Given the description of an element on the screen output the (x, y) to click on. 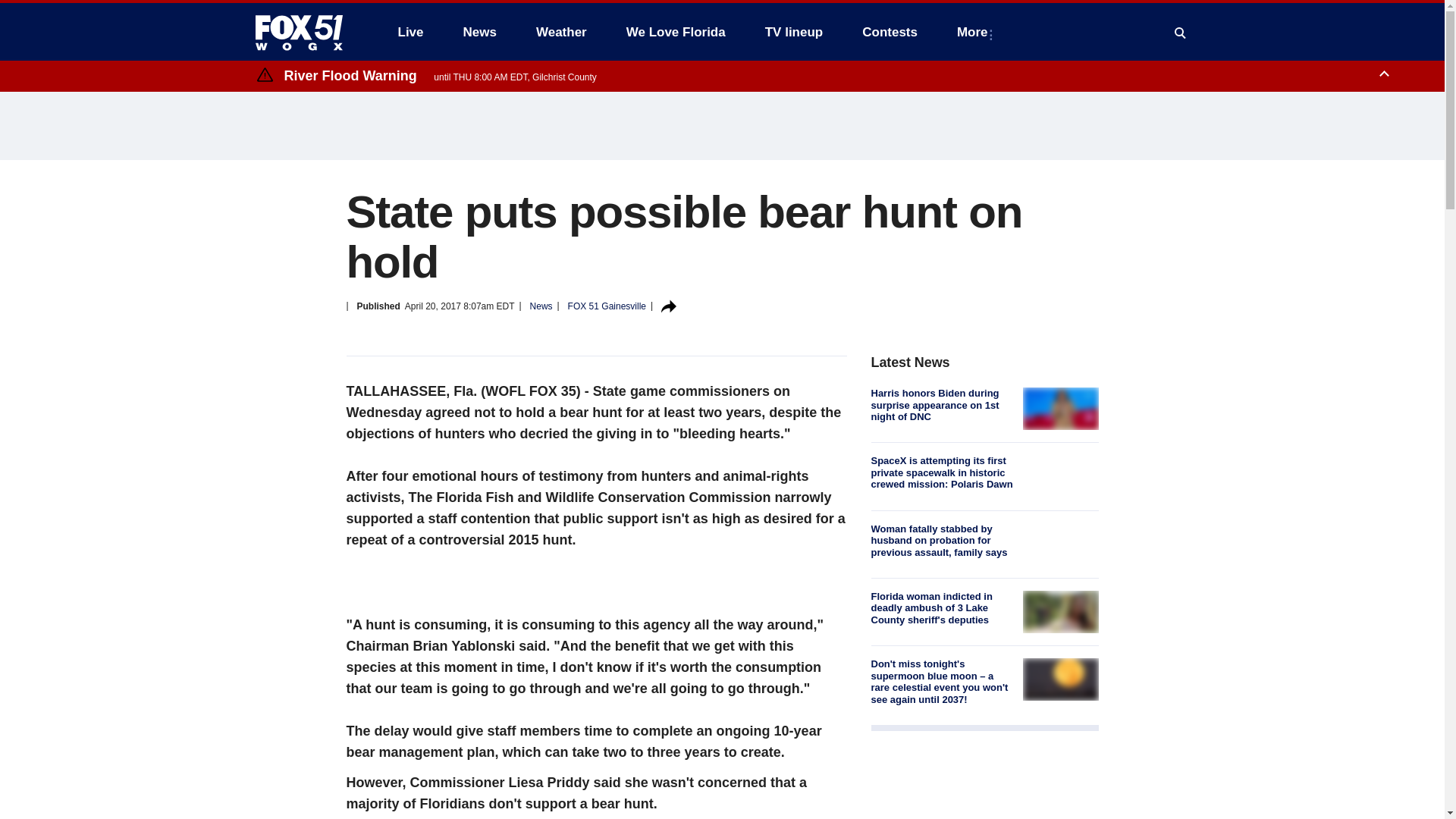
More (975, 32)
We Love Florida (676, 32)
Contests (890, 32)
News (479, 32)
TV lineup (793, 32)
Live (410, 32)
Weather (561, 32)
